Given the description of an element on the screen output the (x, y) to click on. 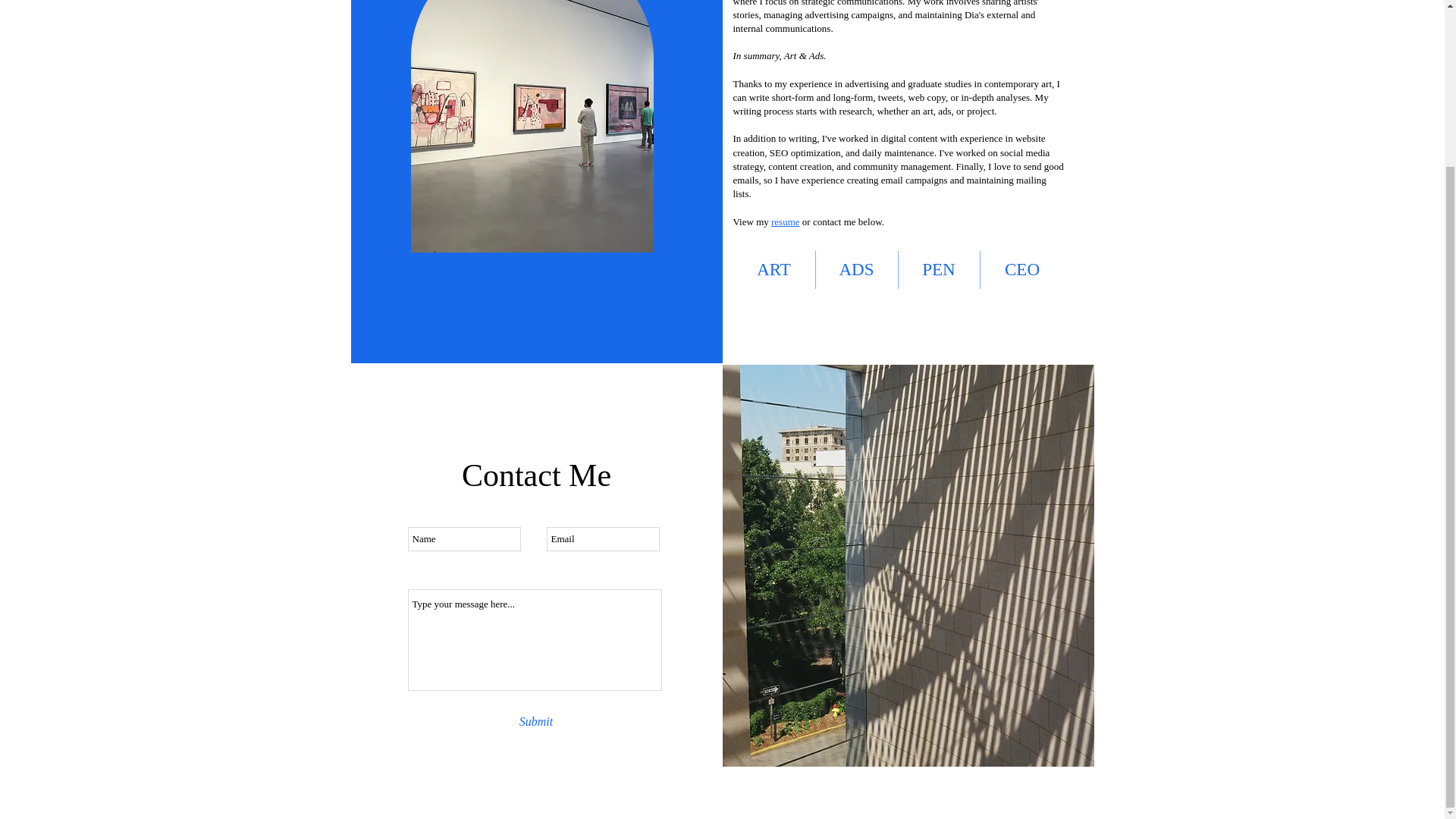
resume (785, 221)
Submit (536, 721)
CEO (1021, 269)
ART (772, 269)
PEN (938, 269)
ADS (856, 269)
